Given the description of an element on the screen output the (x, y) to click on. 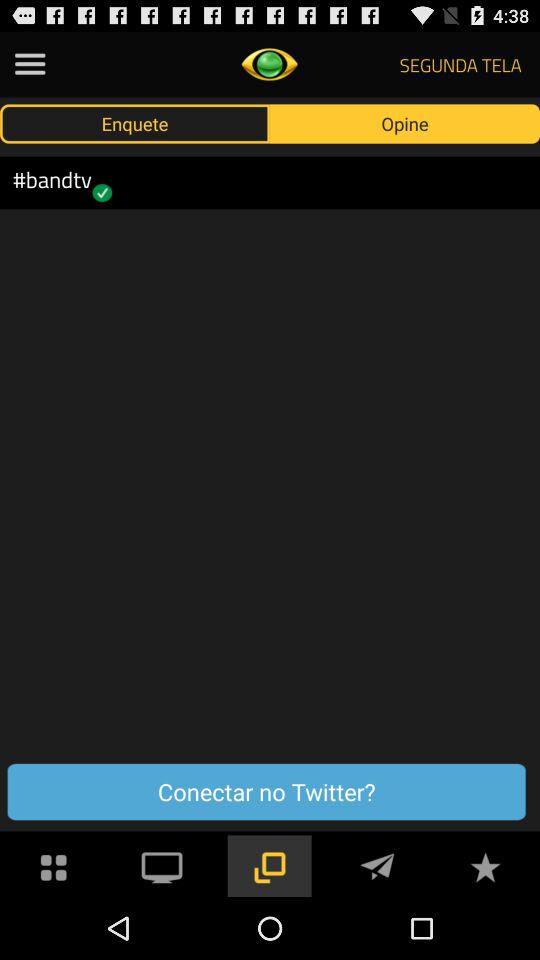
add a favourite (485, 865)
